Given the description of an element on the screen output the (x, y) to click on. 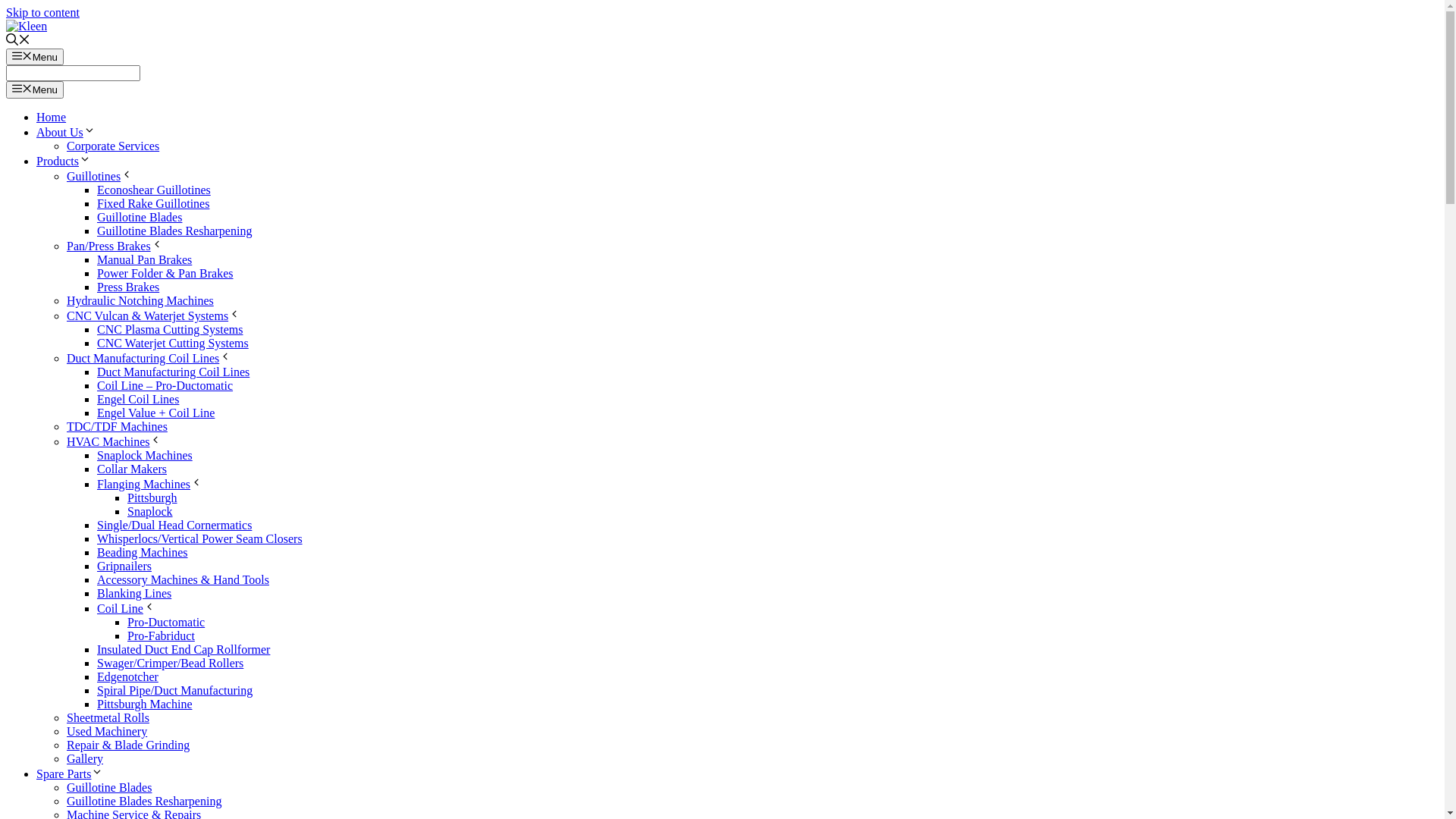
Products Element type: text (63, 160)
Coil Line Element type: text (126, 608)
Hydraulic Notching Machines Element type: text (139, 300)
Edgenotcher Element type: text (127, 676)
Home Element type: text (50, 116)
Power Folder & Pan Brakes Element type: text (165, 272)
About Us Element type: text (65, 131)
Gripnailers Element type: text (124, 565)
Pro-Fabriduct Element type: text (160, 635)
Spare Parts Element type: text (69, 773)
Menu Element type: text (34, 56)
Flanging Machines Element type: text (149, 483)
Snaplock Machines Element type: text (144, 454)
Econoshear Guillotines Element type: text (153, 189)
Manual Pan Brakes Element type: text (144, 259)
Repair & Blade Grinding Element type: text (127, 744)
Engel Coil Lines Element type: text (137, 398)
Guillotine Blades Resharpening Element type: text (143, 800)
Pro-Ductomatic Element type: text (165, 621)
Snaplock Element type: text (149, 511)
Pittsburgh Element type: text (152, 497)
Blanking Lines Element type: text (134, 592)
Guillotine Blades Element type: text (108, 787)
Insulated Duct End Cap Rollformer Element type: text (183, 649)
Pan/Press Brakes Element type: text (114, 245)
Guillotines Element type: text (99, 175)
Spiral Pipe/Duct Manufacturing Element type: text (174, 690)
Swager/Crimper/Bead Rollers Element type: text (170, 662)
CNC Plasma Cutting Systems Element type: text (169, 329)
Corporate Services Element type: text (112, 145)
Used Machinery Element type: text (106, 730)
Guillotine Blades Element type: text (139, 216)
Guillotine Blades Resharpening Element type: text (174, 230)
Pittsburgh Machine Element type: text (144, 703)
Collar Makers Element type: text (131, 468)
TDC/TDF Machines Element type: text (116, 426)
Beading Machines Element type: text (142, 552)
CNC Vulcan & Waterjet Systems Element type: text (153, 315)
Gallery Element type: text (84, 758)
Search Element type: hover (73, 73)
Single/Dual Head Cornermatics Element type: text (174, 524)
Engel Value + Coil Line Element type: text (155, 412)
CNC Waterjet Cutting Systems Element type: text (172, 342)
Press Brakes Element type: text (128, 286)
HVAC Machines Element type: text (113, 441)
Fixed Rake Guillotines Element type: text (153, 203)
Duct Manufacturing Coil Lines Element type: text (148, 357)
Menu Element type: text (34, 89)
Whisperlocs/Vertical Power Seam Closers Element type: text (199, 538)
Sheetmetal Rolls Element type: text (107, 717)
Skip to content Element type: text (42, 12)
Duct Manufacturing Coil Lines Element type: text (173, 371)
Accessory Machines & Hand Tools Element type: text (183, 579)
